Given the description of an element on the screen output the (x, y) to click on. 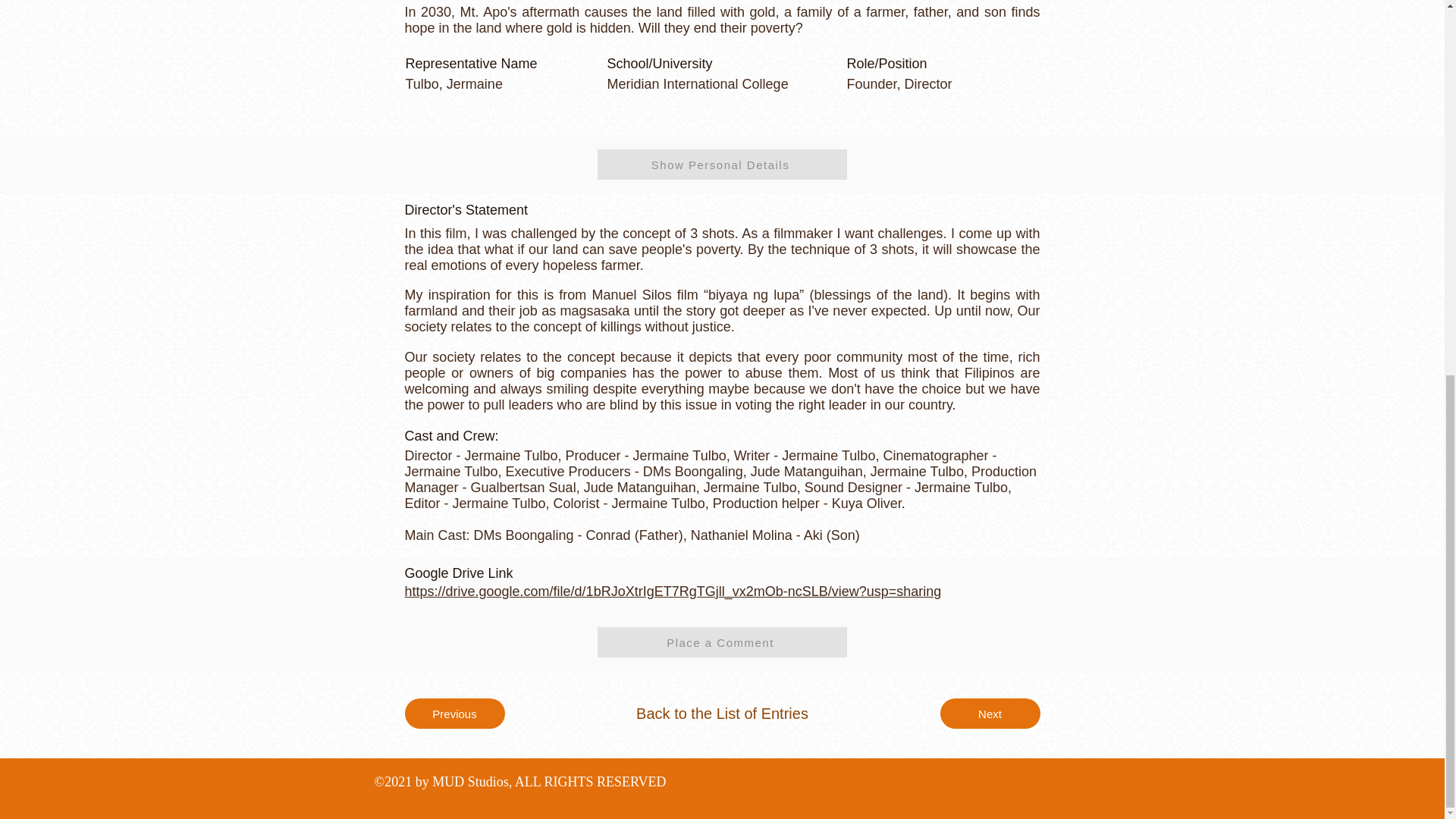
Place a Comment (721, 642)
Previous (454, 713)
Back to the List of Entries (721, 713)
Show Personal Details (721, 164)
Next (990, 713)
